Given the description of an element on the screen output the (x, y) to click on. 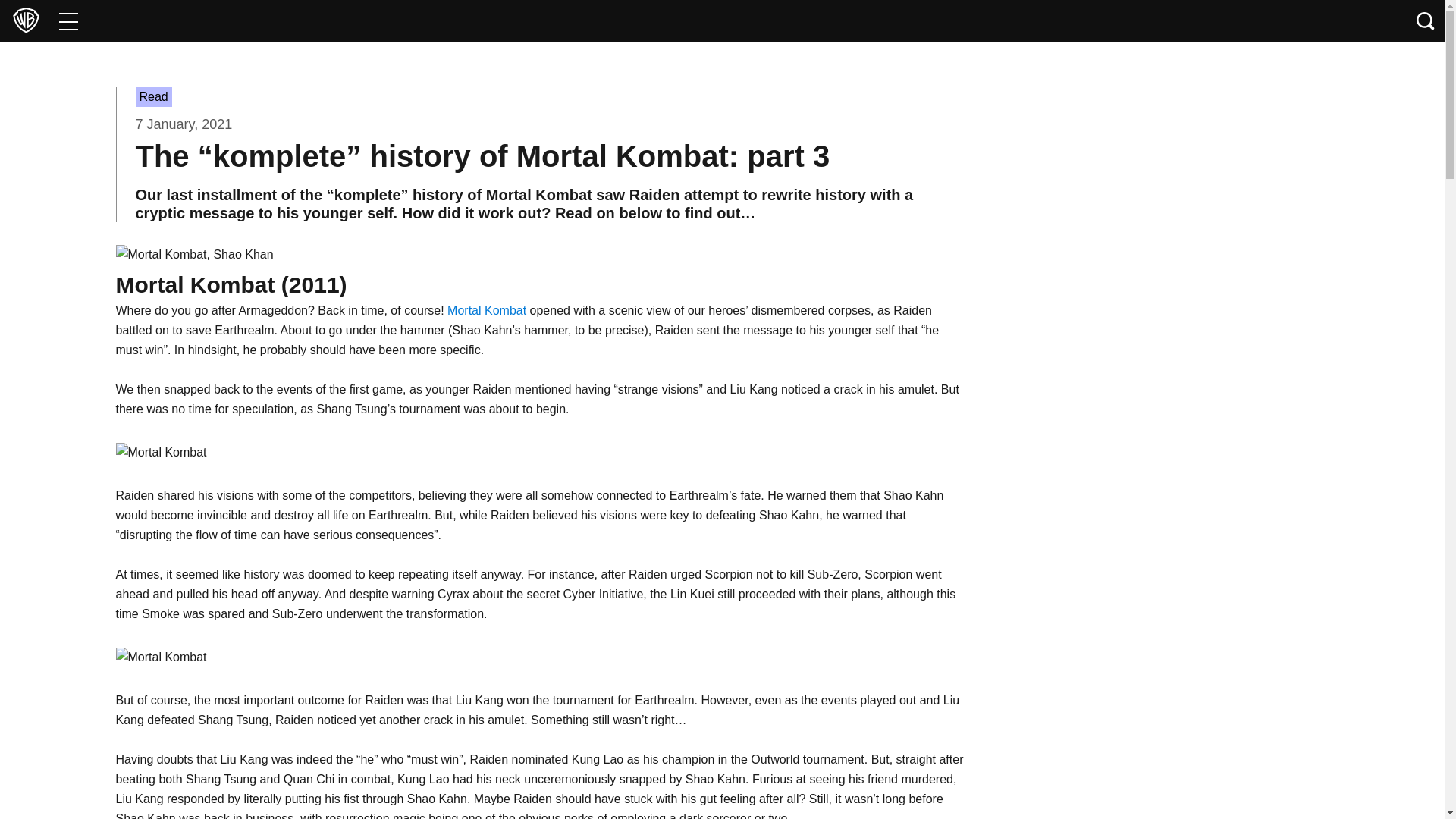
Mortal Kombat (160, 452)
Mortal Kombat (485, 309)
Mortal Kombat (160, 657)
Mortal Kombat (194, 254)
